Given the description of an element on the screen output the (x, y) to click on. 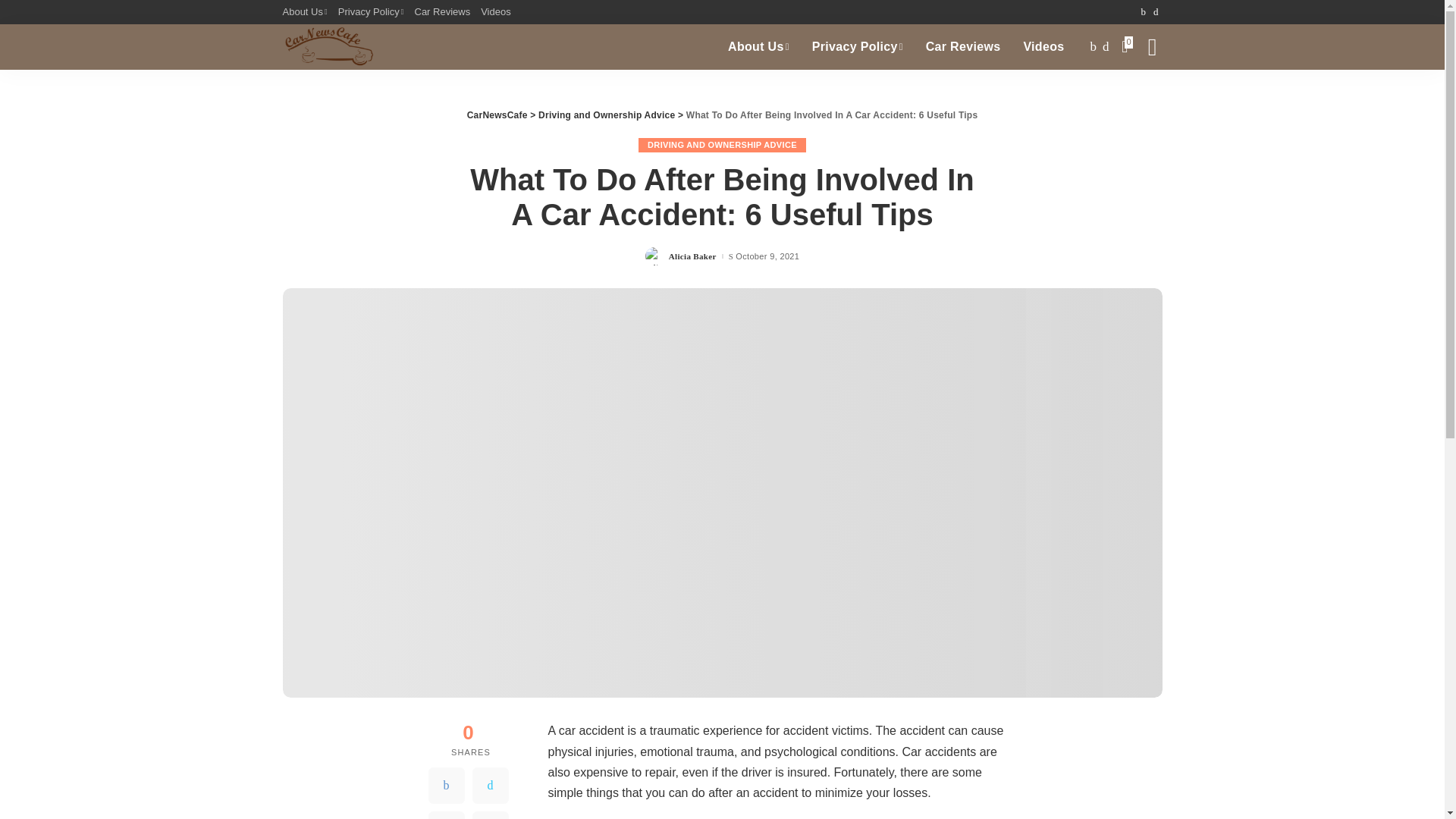
About Us (306, 12)
Search (1140, 97)
Car Reviews (962, 46)
Videos (496, 12)
About Us (758, 46)
Privacy Policy (857, 46)
CarNewsCafe (328, 46)
Videos (1043, 46)
Car Reviews (442, 12)
Privacy Policy (371, 12)
